Given the description of an element on the screen output the (x, y) to click on. 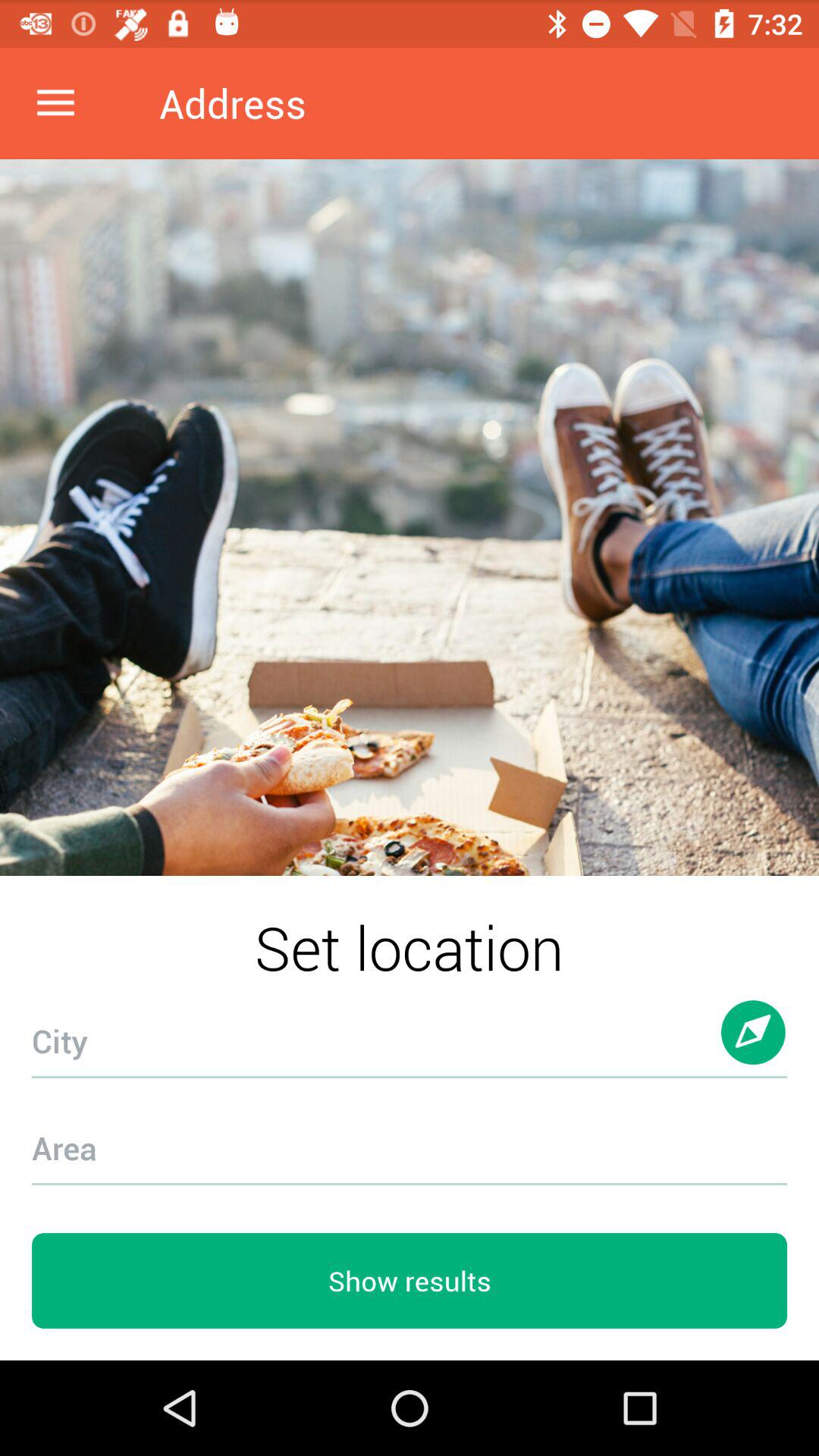
select icon next to the address icon (55, 103)
